Given the description of an element on the screen output the (x, y) to click on. 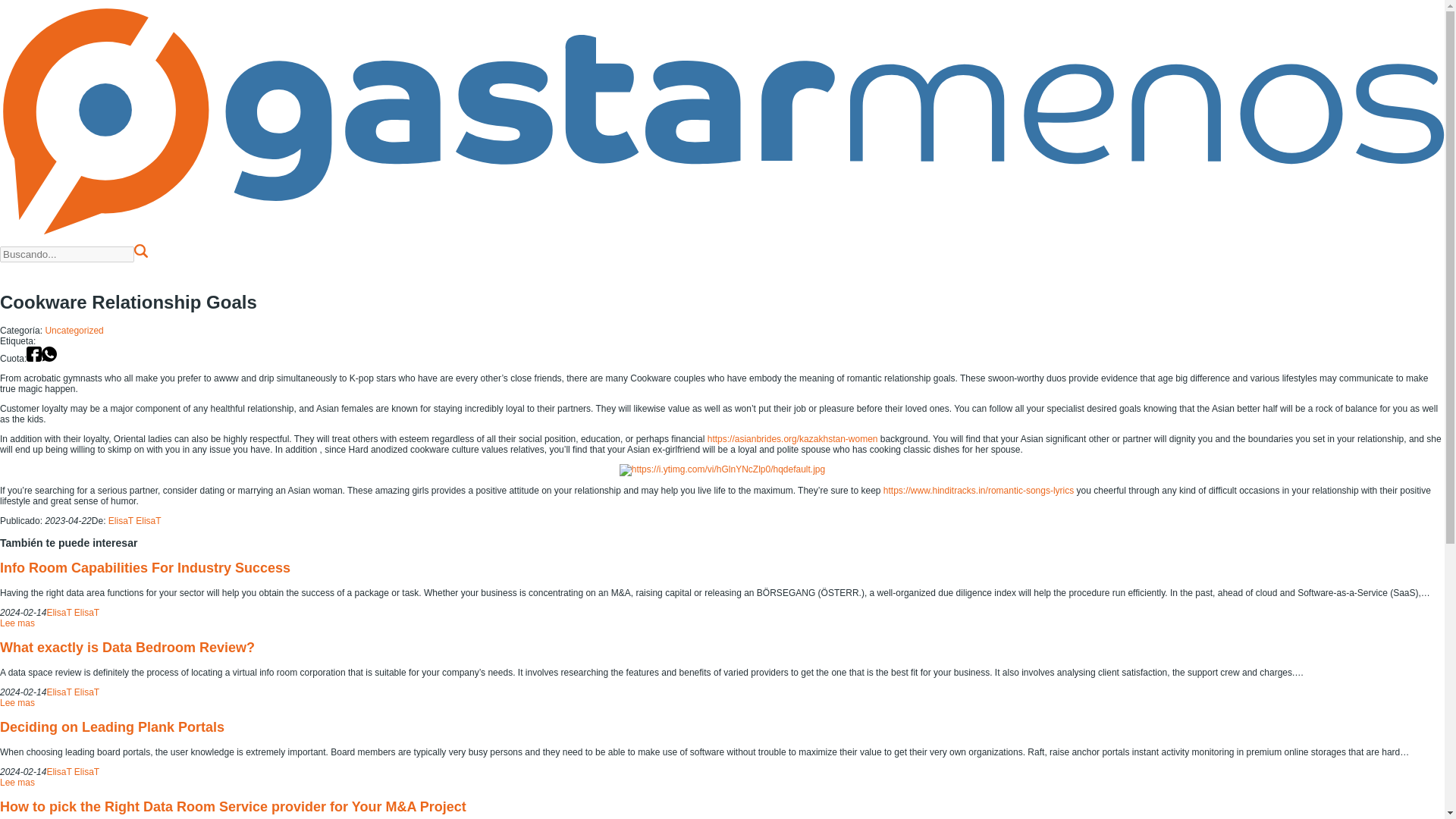
What exactly is Data Bedroom Review? (127, 647)
ElisaT ElisaT (72, 692)
Lee mas (17, 702)
Uncategorized (74, 330)
ElisaT ElisaT (72, 612)
Deciding on Leading Plank Portals (112, 726)
ElisaT ElisaT (72, 771)
ElisaT ElisaT (134, 520)
Lee mas (17, 782)
Info Room Capabilities For Industry Success (144, 567)
